Given the description of an element on the screen output the (x, y) to click on. 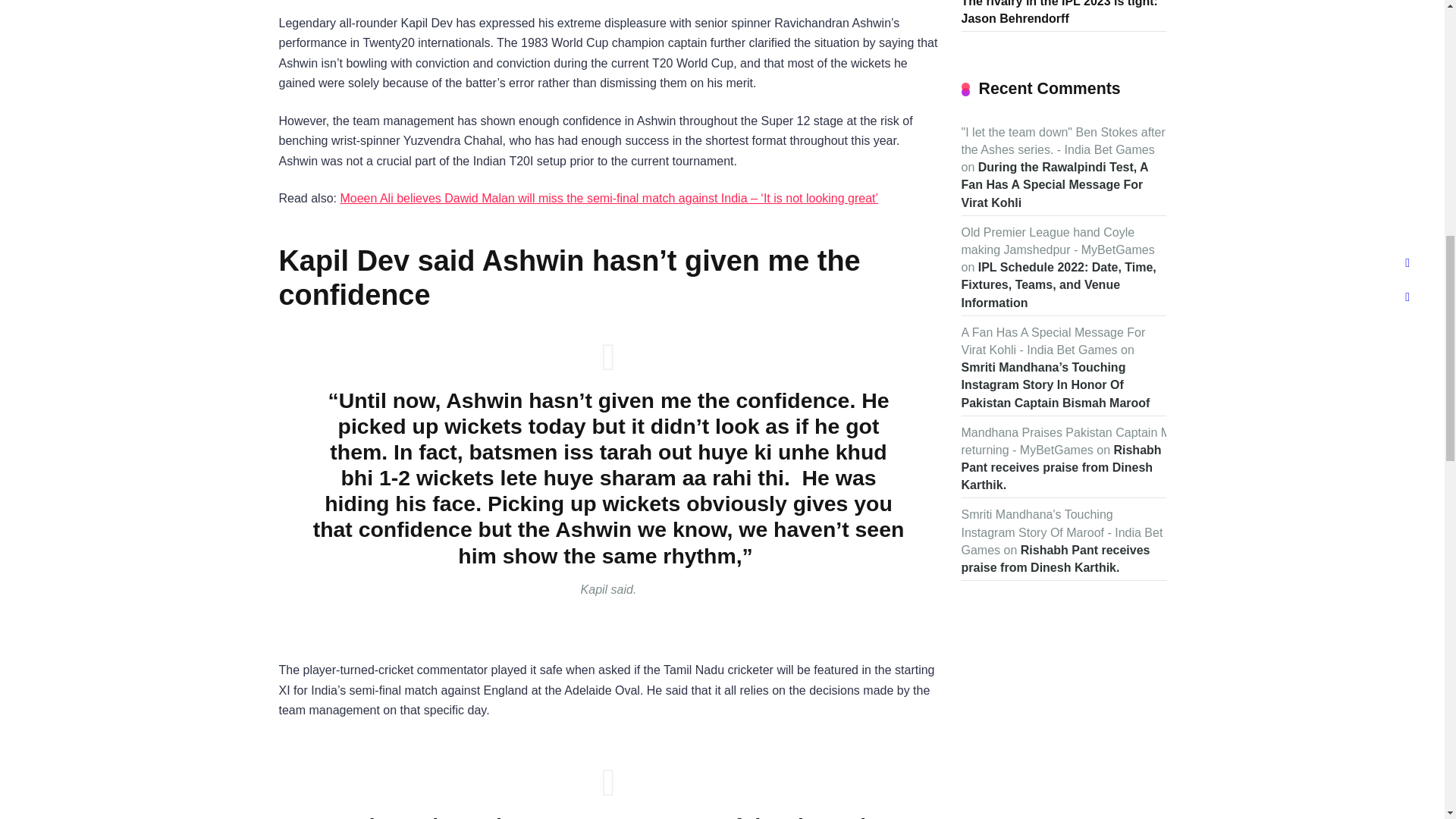
The rivalry in the IPL 2023 is tight: Jason Behrendorff (1058, 14)
Rishabh Pant receives praise from Dinesh Karthik. (1055, 558)
Old Premier League hand Coyle making Jamshedpur - MyBetGames (1057, 241)
Rishabh Pant receives praise from Dinesh Karthik. (1060, 467)
